Given the description of an element on the screen output the (x, y) to click on. 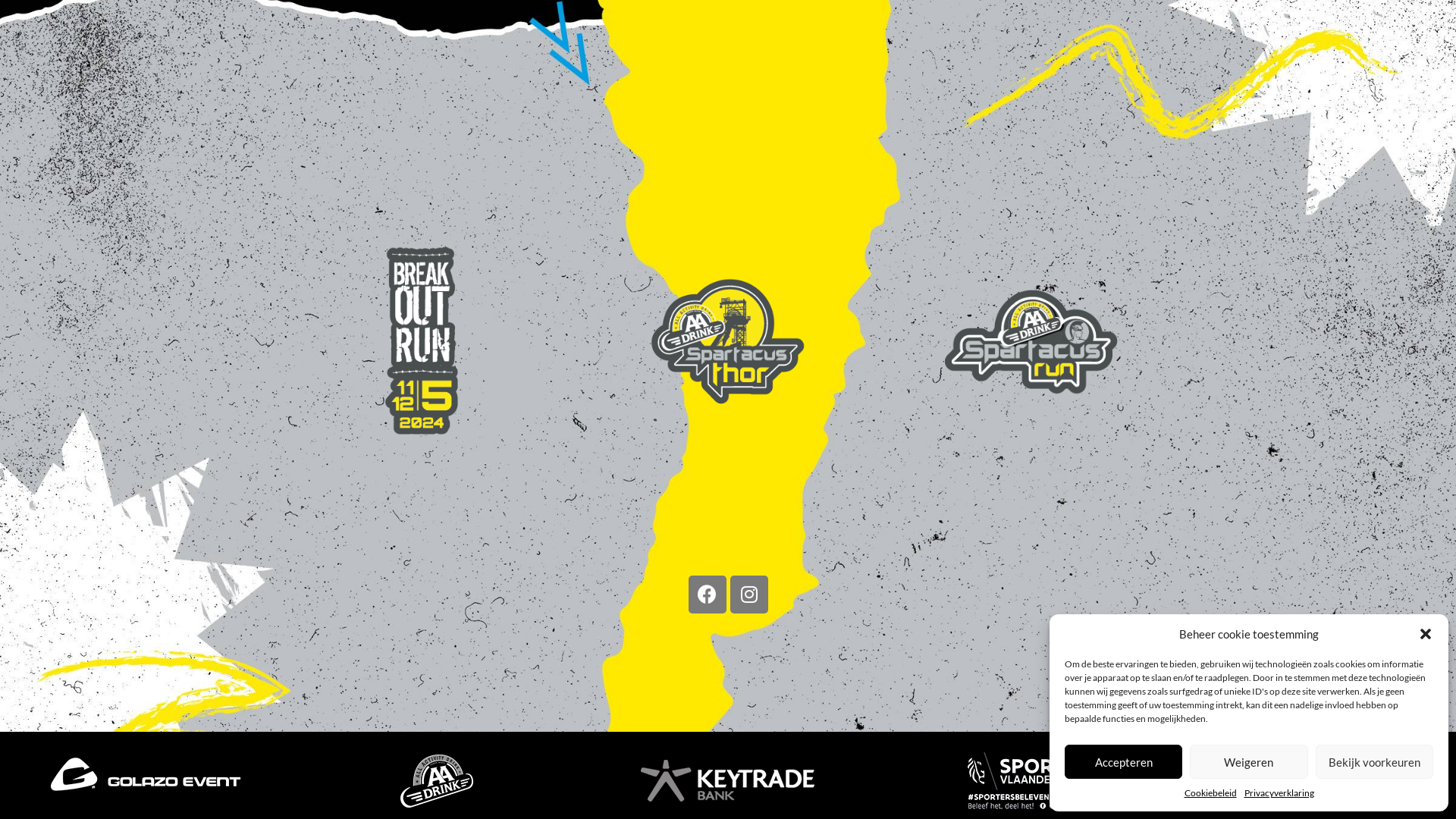
bolingo-logo-300-80 Element type: hover (1310, 776)
Weigeren Element type: text (1248, 761)
sportvlaanderen-meer Element type: hover (1018, 780)
aadrink Element type: hover (436, 780)
Cookiebeleid Element type: text (1210, 793)
Accepteren Element type: text (1123, 761)
golazo-event Element type: hover (145, 773)
Privacyverklaring Element type: text (1278, 793)
Bekijk voorkeuren Element type: text (1374, 761)
